Given the description of an element on the screen output the (x, y) to click on. 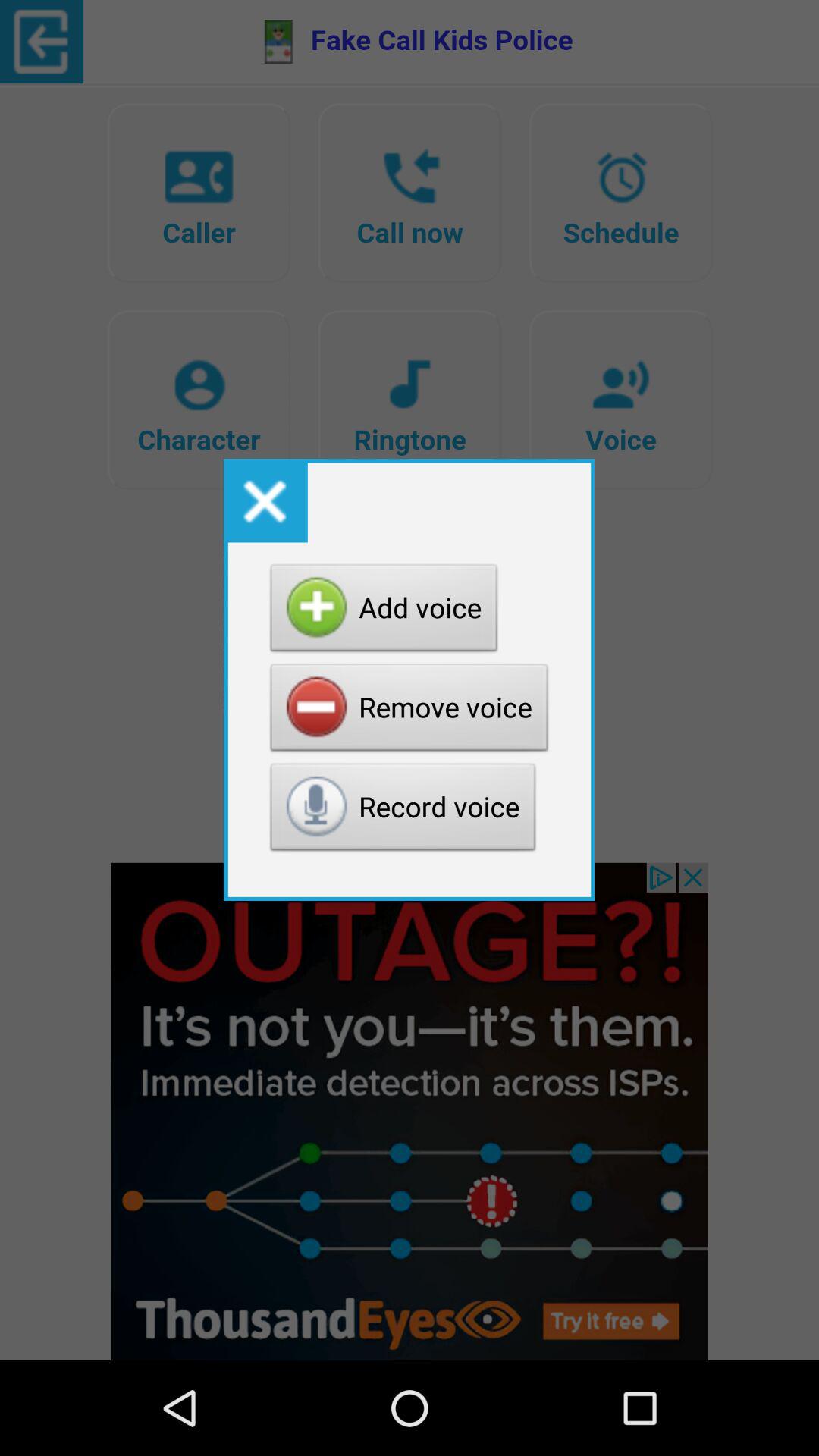
tap add voice item (383, 612)
